Given the description of an element on the screen output the (x, y) to click on. 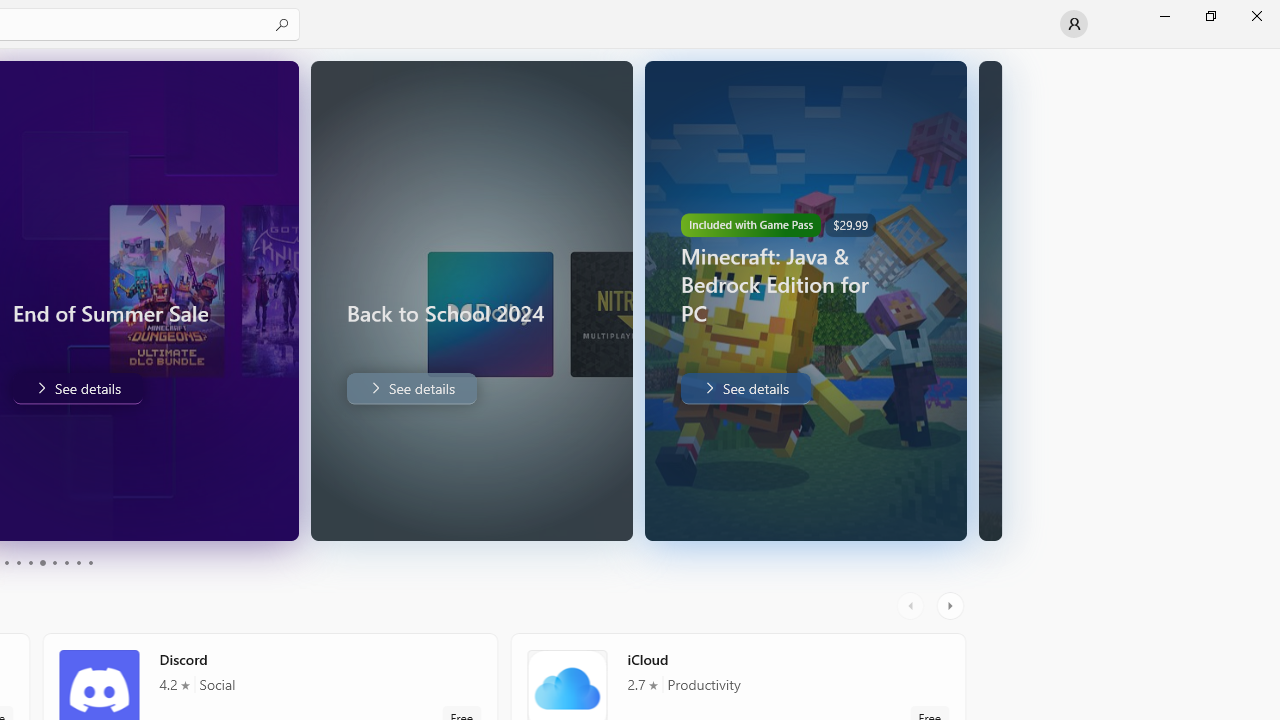
Page 6 (41, 562)
Minimize Microsoft Store (1164, 15)
AutomationID: LeftScrollButton (913, 606)
End of Summer Sale. Save up to 80%.  . See details (76, 387)
Page 8 (65, 562)
Page 4 (17, 562)
AutomationID: Image (989, 300)
Page 10 (90, 562)
Page 5 (29, 562)
Page 9 (77, 562)
Close Microsoft Store (1256, 15)
Page 3 (5, 562)
User profile (1073, 24)
